Given the description of an element on the screen output the (x, y) to click on. 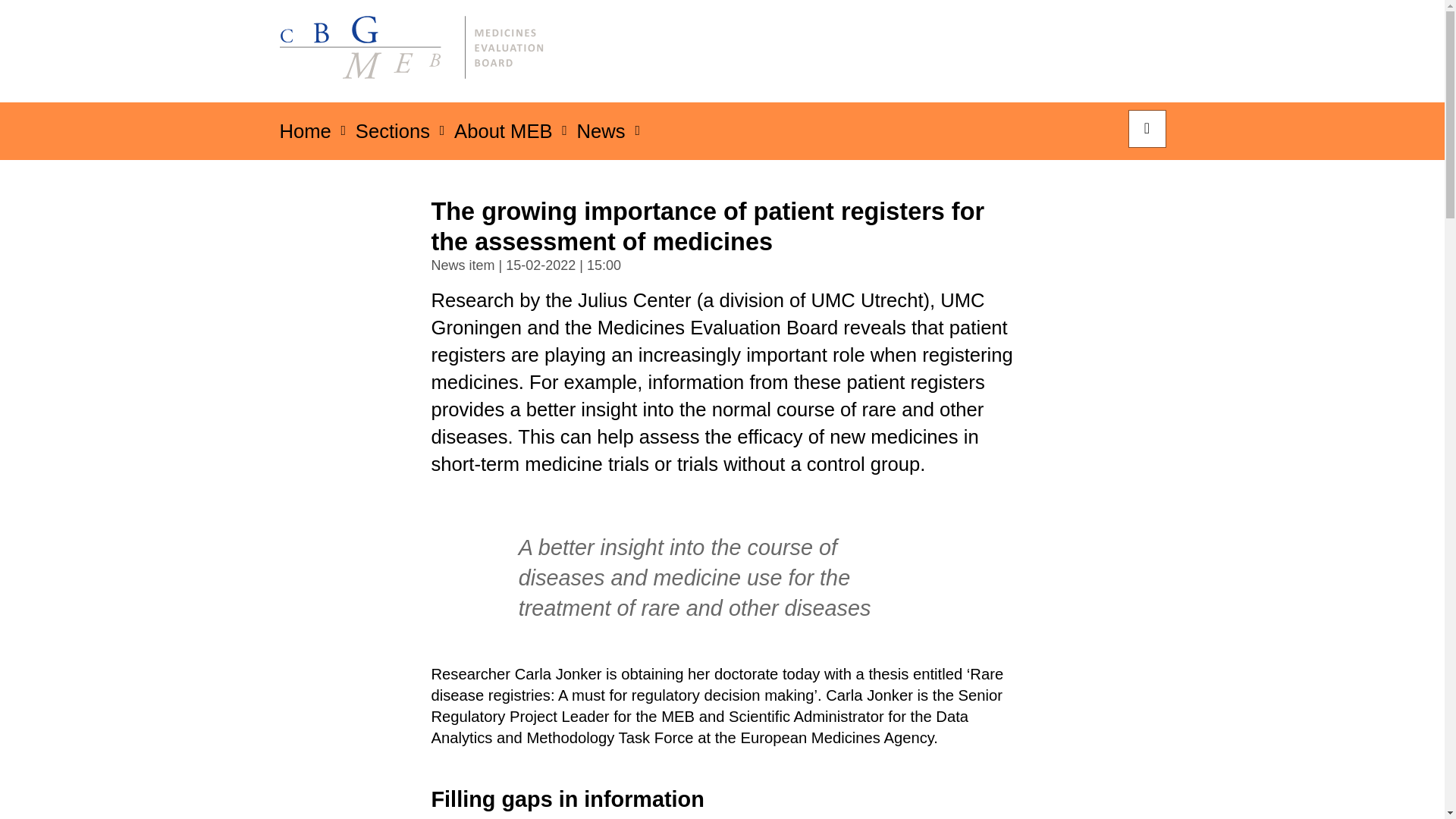
About MEB (503, 135)
Start search (1146, 128)
Home (304, 135)
News (601, 135)
Search (1146, 128)
Sections (392, 135)
